Given the description of an element on the screen output the (x, y) to click on. 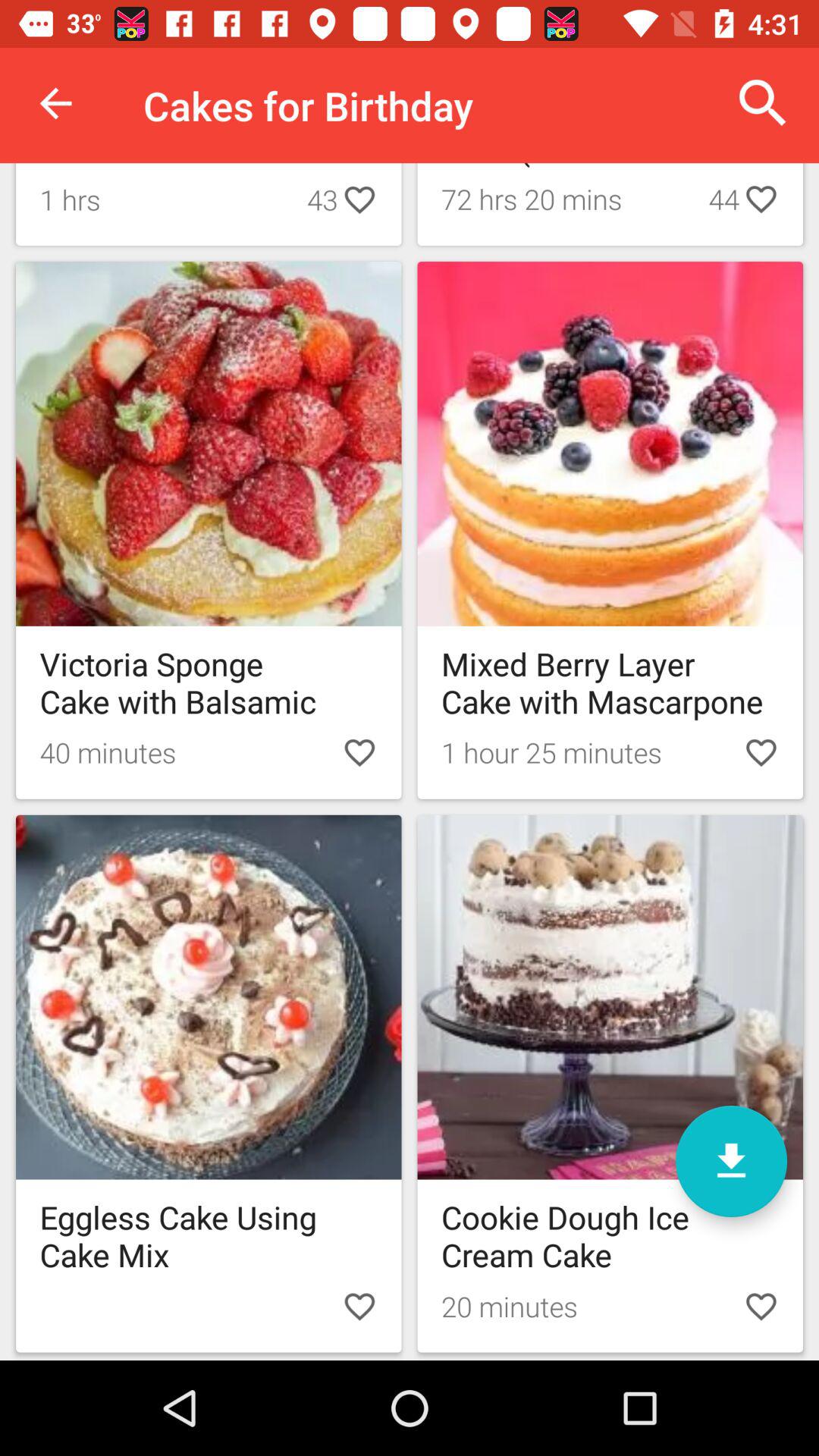
download save (731, 1161)
